Given the description of an element on the screen output the (x, y) to click on. 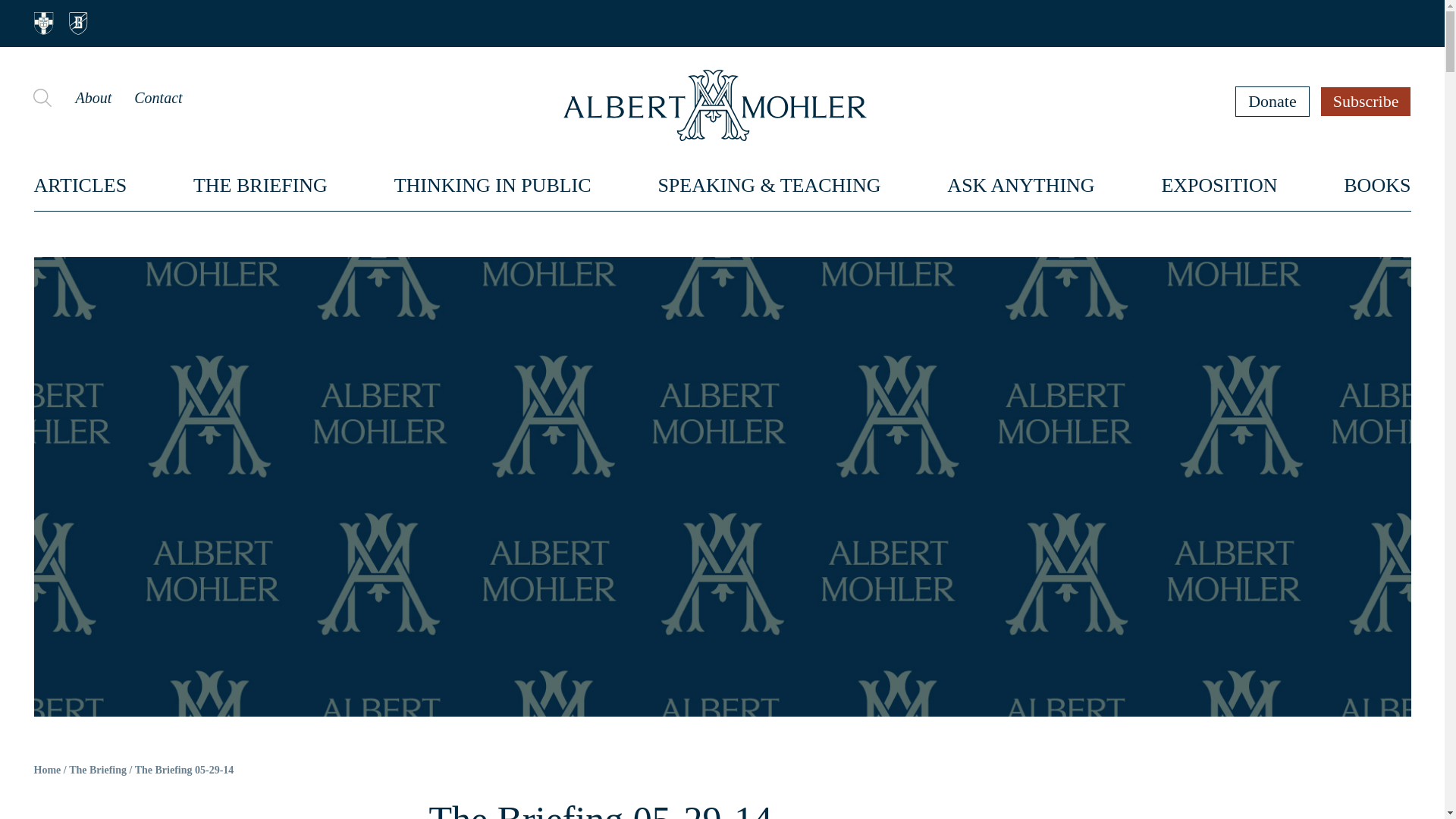
Home (47, 770)
Donate (1272, 101)
Subscribe (1366, 101)
Contact (157, 97)
THE BRIEFING (260, 185)
ASK ANYTHING (1020, 185)
EXPOSITION (1218, 185)
About (93, 97)
BOOKS (1376, 185)
ARTICLES (79, 185)
